Given the description of an element on the screen output the (x, y) to click on. 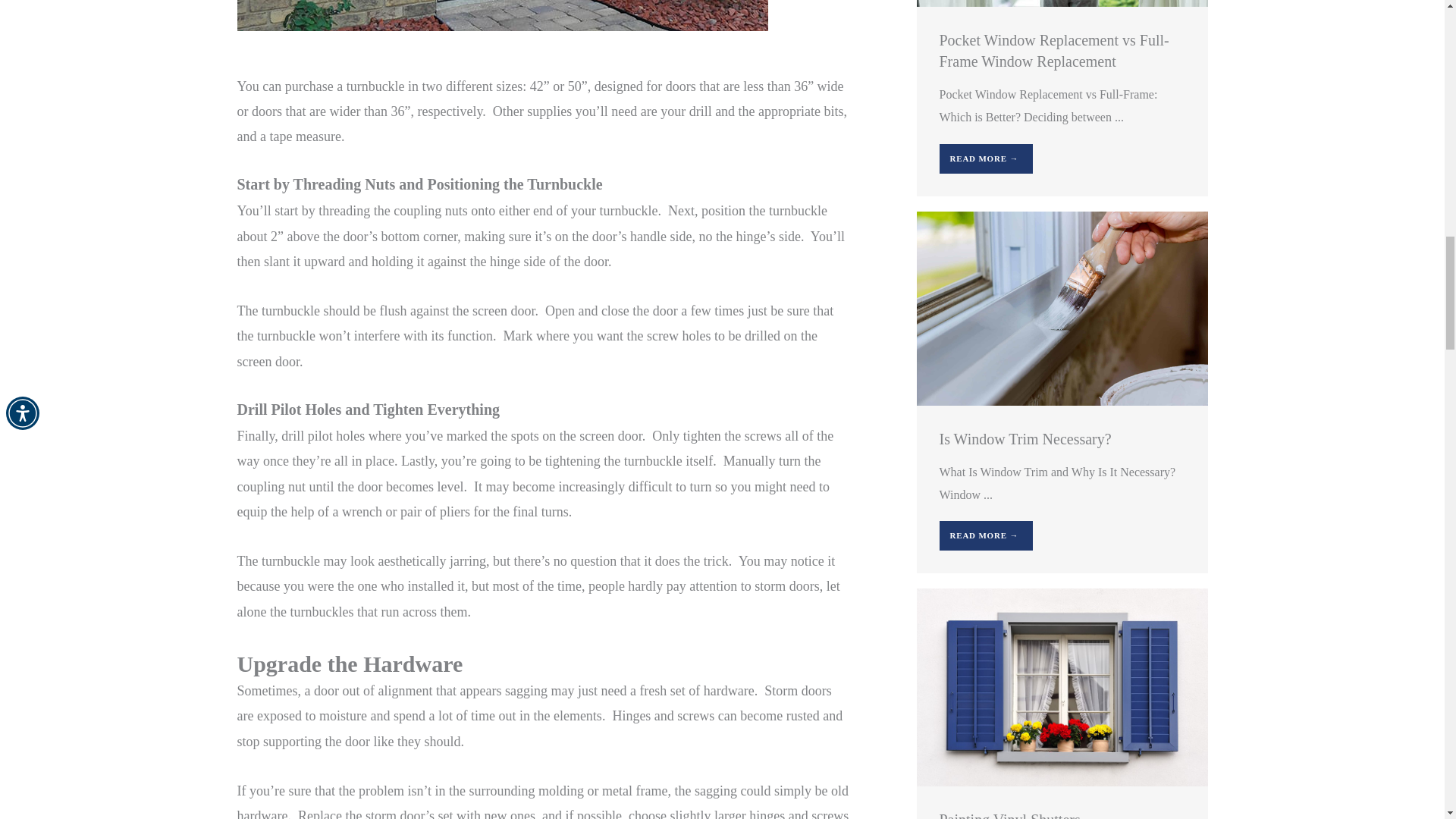
Painting Vinyl Shutters (1061, 686)
Is Window Trim Necessary? (1061, 307)
